Given the description of an element on the screen output the (x, y) to click on. 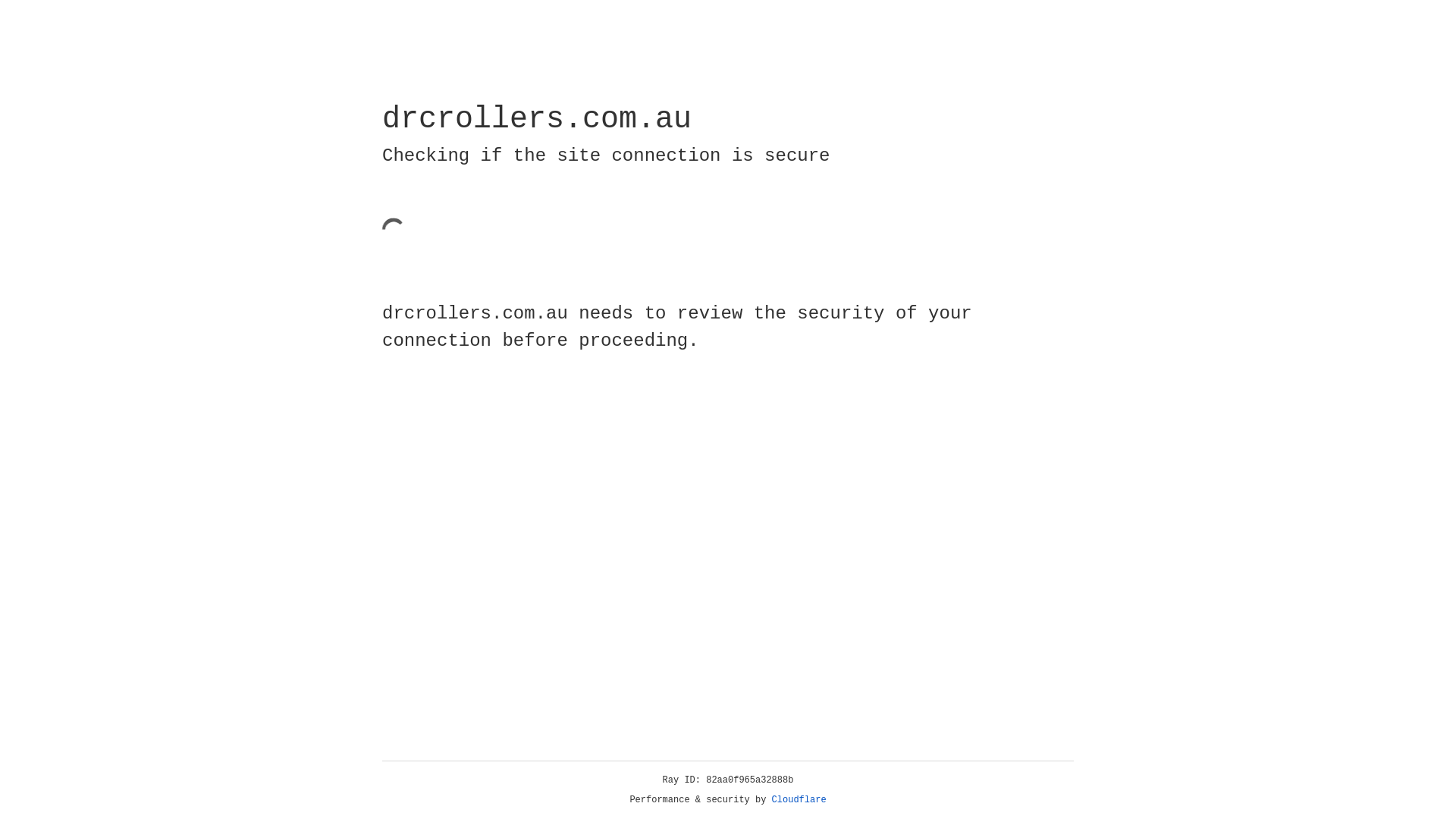
Cloudflare Element type: text (798, 799)
